Given the description of an element on the screen output the (x, y) to click on. 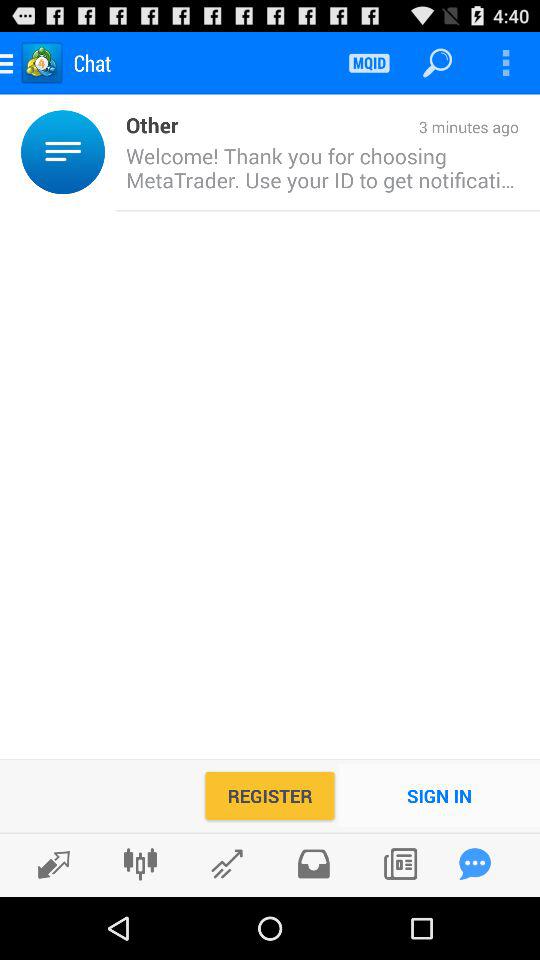
choose icon below 3 minutes ago icon (317, 167)
